Given the description of an element on the screen output the (x, y) to click on. 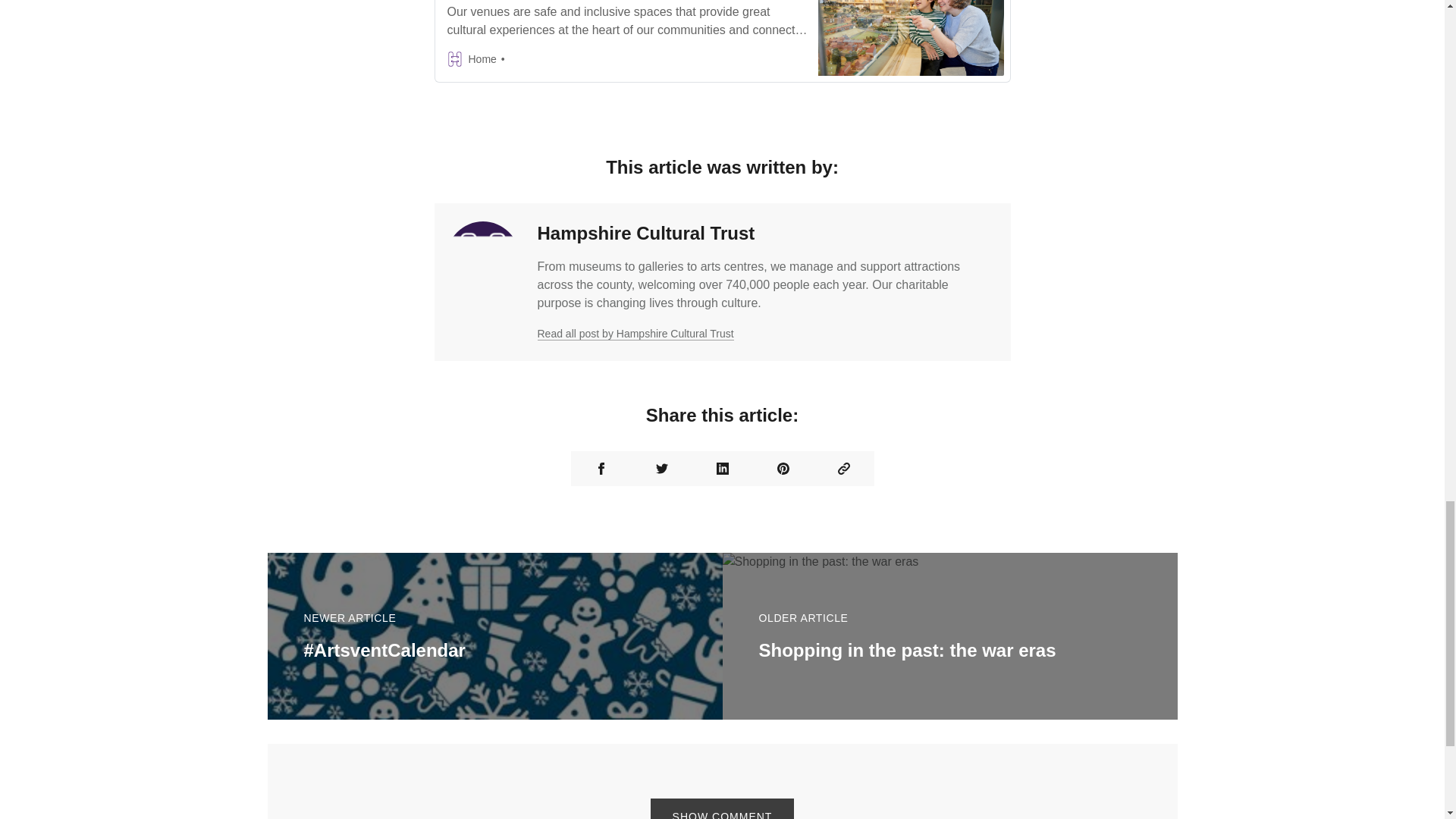
Copy the permalink (842, 468)
Share on Facebook (600, 468)
Share on Twitter (660, 468)
Share on Pinterest (782, 468)
Read all post by Hampshire Cultural Trust (635, 333)
Hampshire Cultural Trust (645, 232)
Share on Linkedin (721, 468)
SHOW COMMENT (722, 808)
Shopping in the past: the war eras (906, 649)
